Given the description of an element on the screen output the (x, y) to click on. 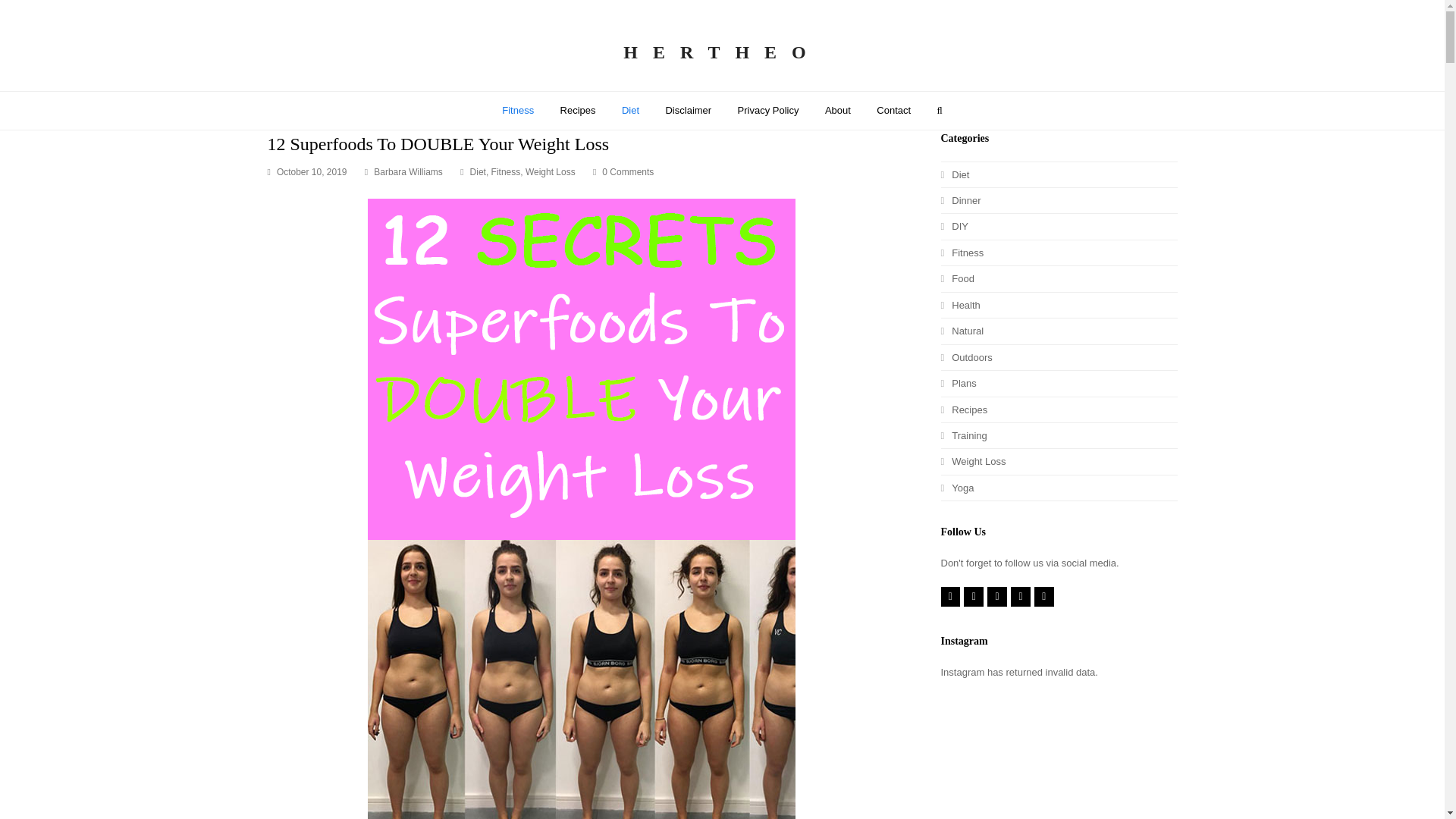
Weight Loss (550, 172)
Twitter (949, 596)
Youtube (1020, 596)
Facebook (973, 596)
0 Comments (627, 172)
Pinterest (997, 596)
RSS (1043, 596)
Diet (954, 174)
Recipes (577, 110)
Posts by Barbara Williams (408, 172)
Dinner (959, 200)
Barbara Williams (408, 172)
DIY (954, 225)
About (836, 110)
Contact (893, 110)
